Given the description of an element on the screen output the (x, y) to click on. 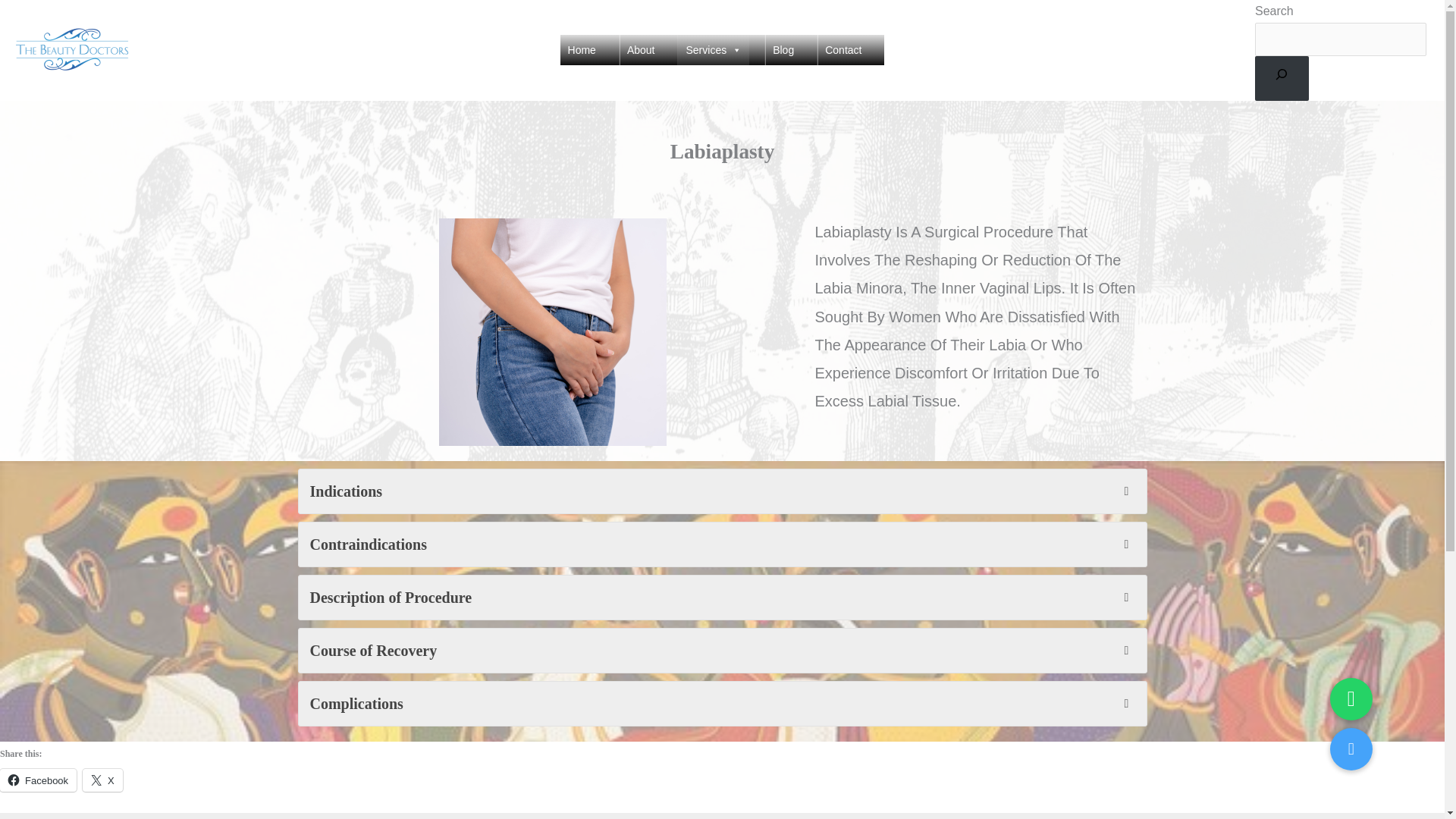
About (641, 50)
Click to share on Facebook (38, 780)
Home (582, 50)
Services (713, 50)
Click to share on X (102, 780)
